Given the description of an element on the screen output the (x, y) to click on. 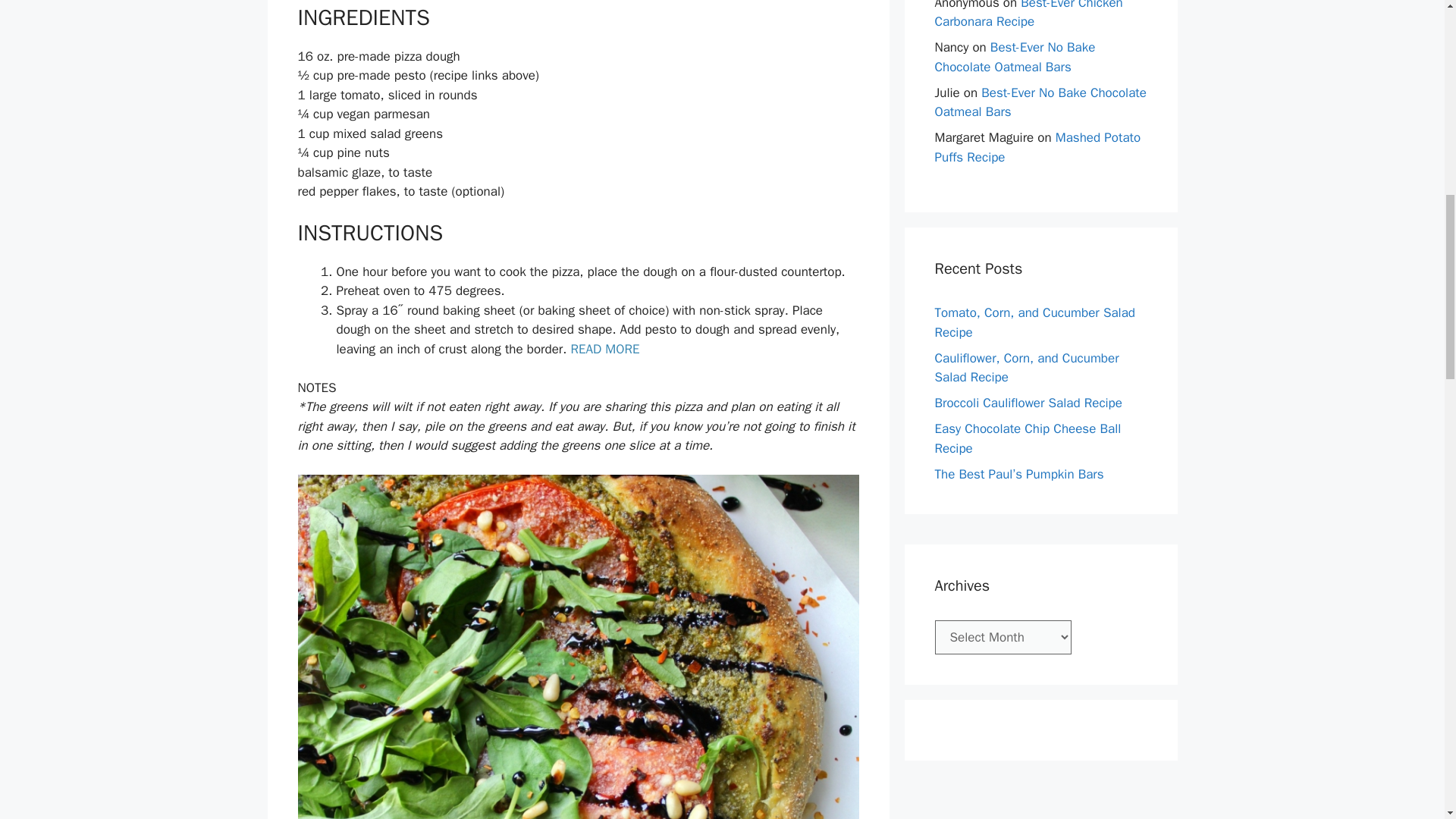
Cauliflower, Corn, and Cucumber Salad Recipe (1026, 367)
Easy Chocolate Chip Cheese Ball Recipe (1027, 438)
READ MORE (604, 349)
Best-Ever Chicken Carbonara Recipe (1028, 14)
Broccoli Cauliflower Salad Recipe (1027, 402)
Mashed Potato Puffs Recipe (1037, 147)
Best-Ever No Bake Chocolate Oatmeal Bars (1014, 57)
Tomato, Corn, and Cucumber Salad Recipe (1034, 322)
Best-Ever No Bake Chocolate Oatmeal Bars (1039, 102)
